Given the description of an element on the screen output the (x, y) to click on. 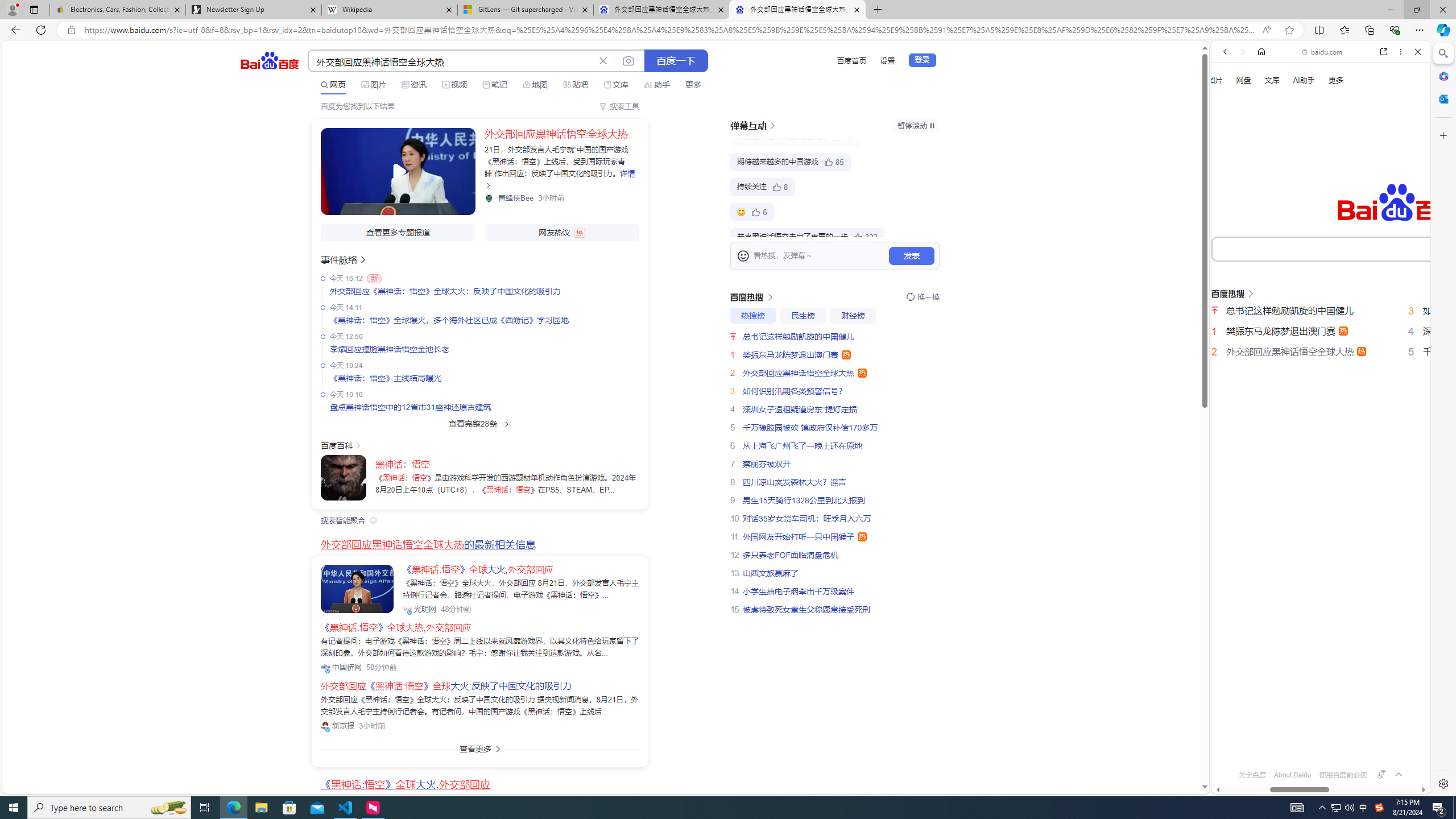
English (US) (1320, 329)
English (Uk) (1320, 353)
Electronics, Cars, Fashion, Collectibles & More | eBay (117, 9)
VIDEOS (1300, 192)
Favorites (1344, 29)
Class: c-img c-img-radius-large (356, 589)
Home (1261, 51)
